Given the description of an element on the screen output the (x, y) to click on. 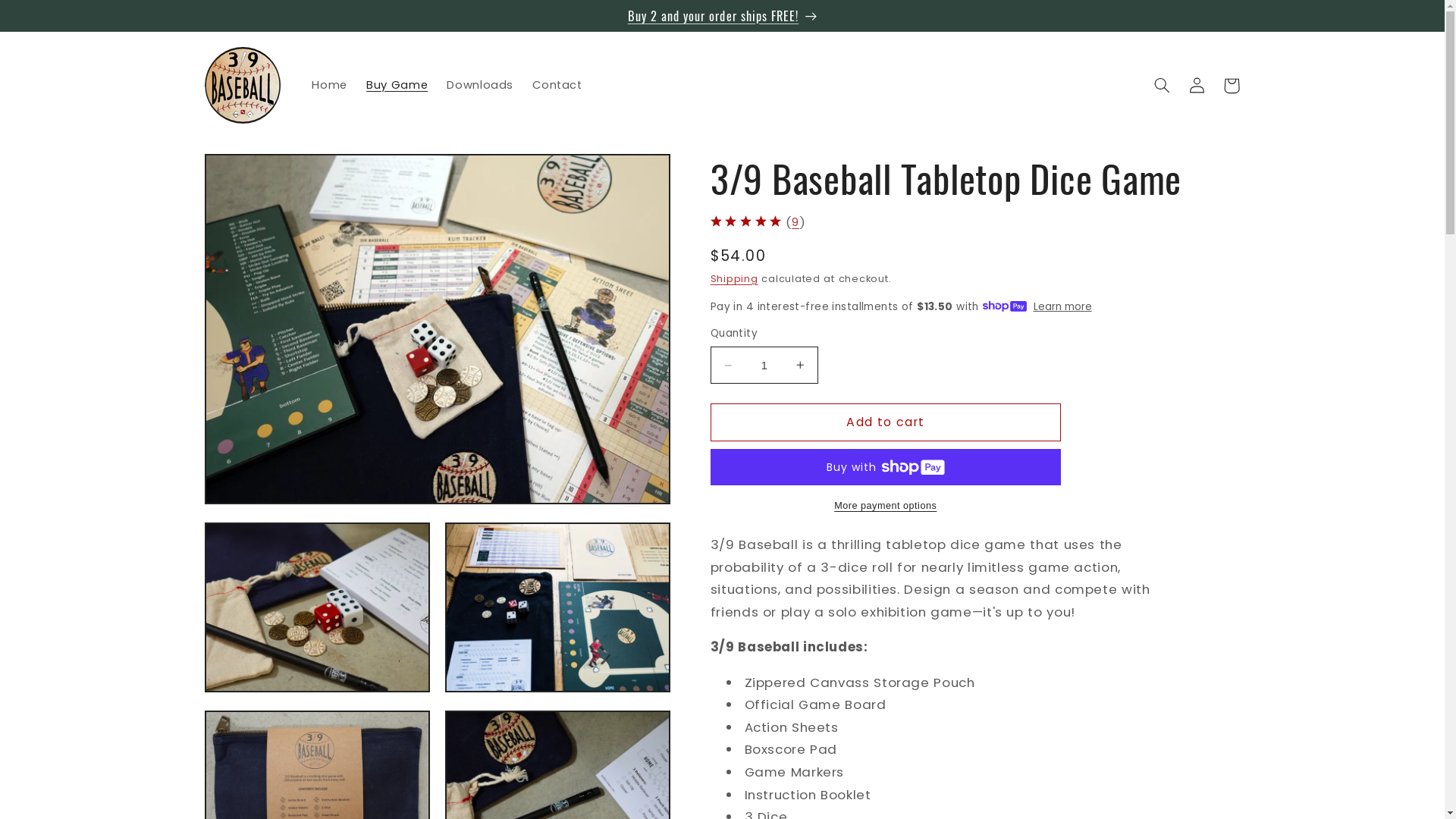
Add to cart Element type: text (885, 421)
Contact Element type: text (557, 85)
Log in Element type: text (1196, 85)
Home Element type: text (329, 85)
Cart Element type: text (1231, 85)
Buy 2 and your order ships FREE! Element type: text (722, 15)
Decrease quantity for 3/9 Baseball Tabletop Dice Game Element type: text (728, 364)
Buy Game Element type: text (397, 85)
More payment options Element type: text (885, 506)
Skip to product information Element type: text (252, 171)
Downloads Element type: text (480, 85)
9
total reviews Element type: text (795, 222)
Increase quantity for 3/9 Baseball Tabletop Dice Game Element type: text (800, 364)
Shipping Element type: text (734, 278)
